Given the description of an element on the screen output the (x, y) to click on. 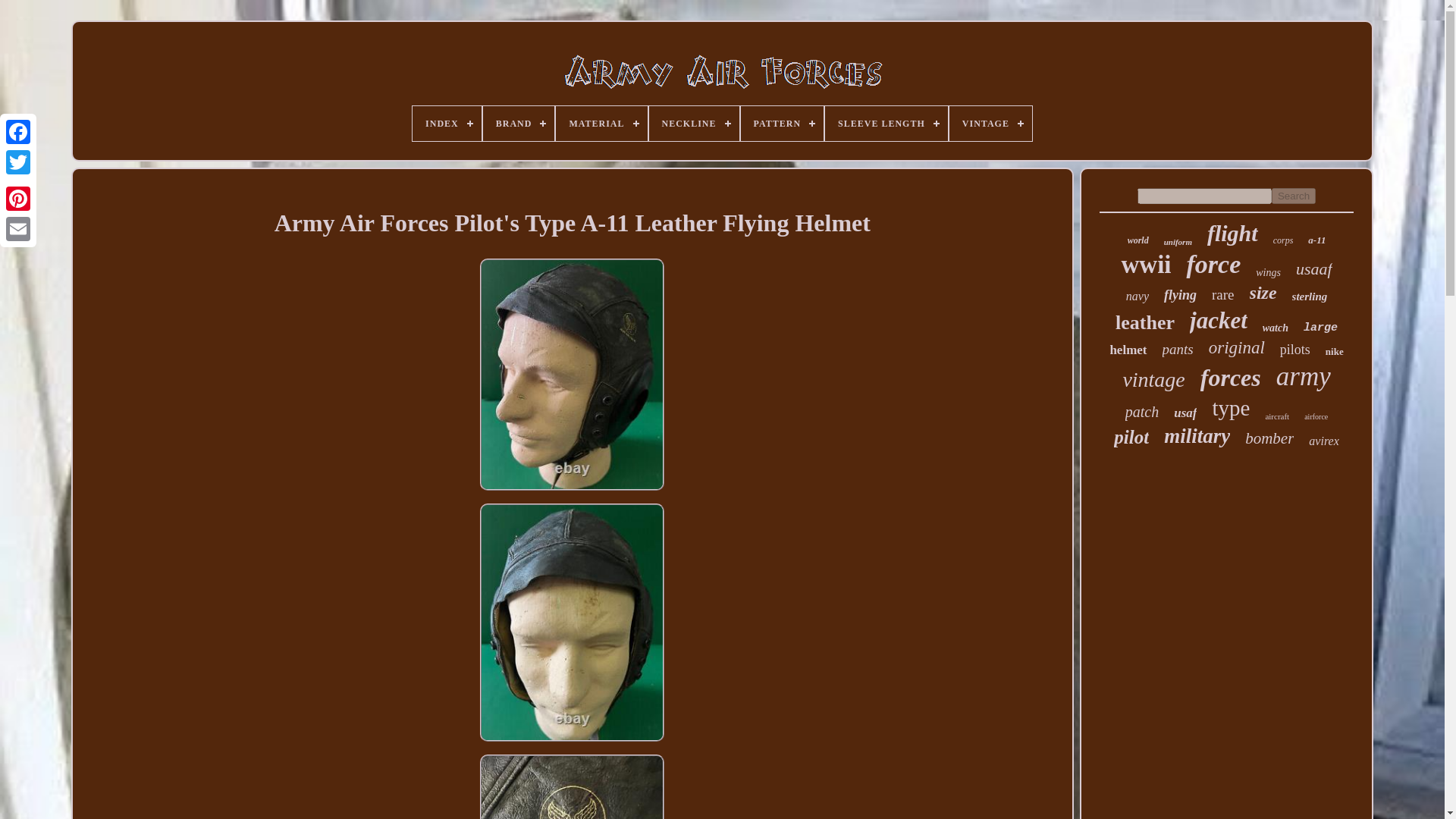
Search (1293, 195)
BRAND (518, 123)
Army Air Forces Pilot's Type A-11 Leather Flying Helmet (571, 784)
Army Air Forces Pilot's Type A-11 Leather Flying Helmet (572, 223)
MATERIAL (601, 123)
Army Air Forces Pilot's Type A-11 Leather Flying Helmet (571, 786)
INDEX (446, 123)
